Given the description of an element on the screen output the (x, y) to click on. 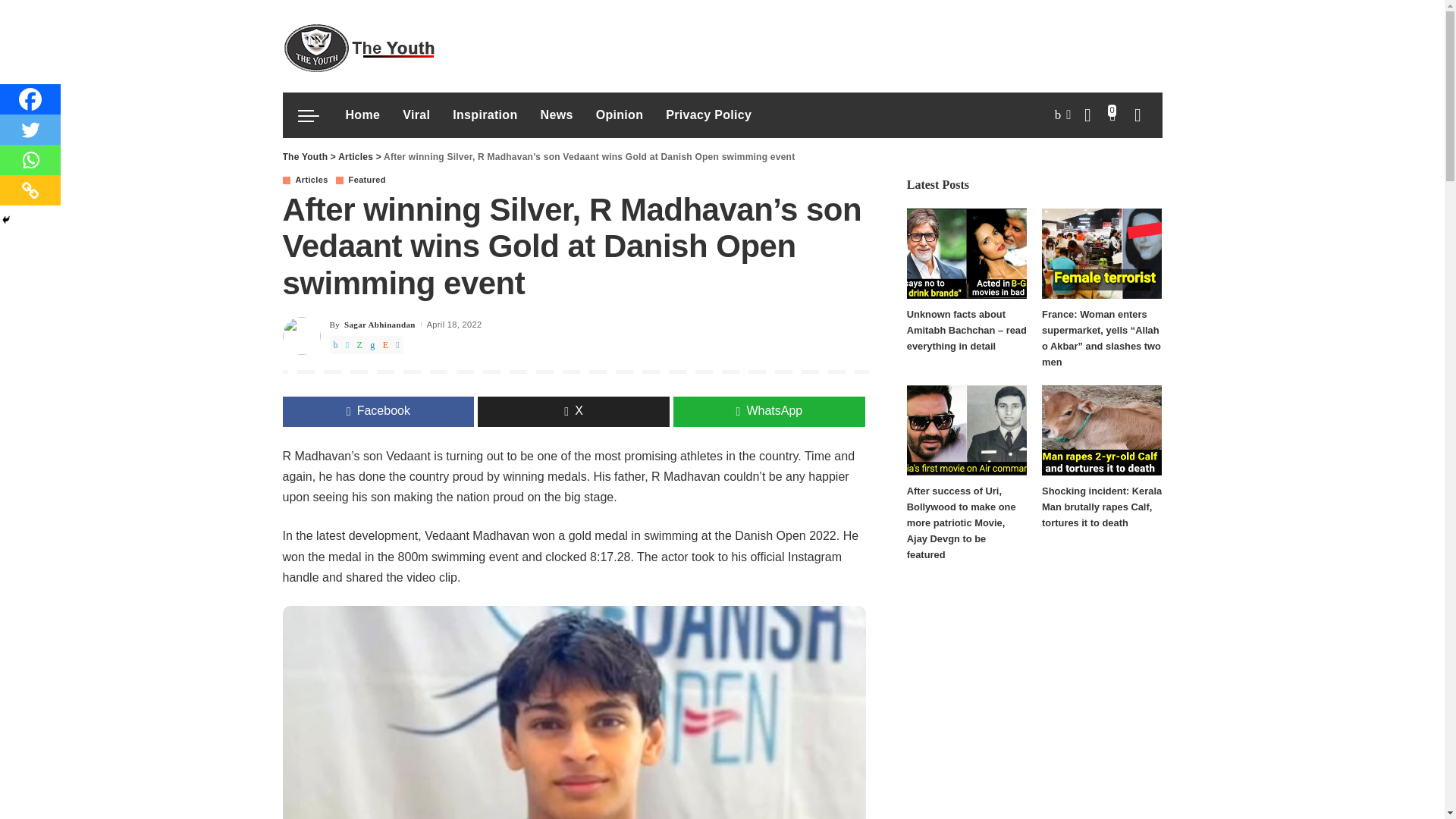
Go to the Articles Category archives. (354, 156)
Facebook (30, 99)
Hide (5, 219)
Twitter (30, 129)
Copy Link (30, 190)
Whatsapp (30, 159)
Go to The Youth. (304, 156)
The Youth (357, 45)
